Given the description of an element on the screen output the (x, y) to click on. 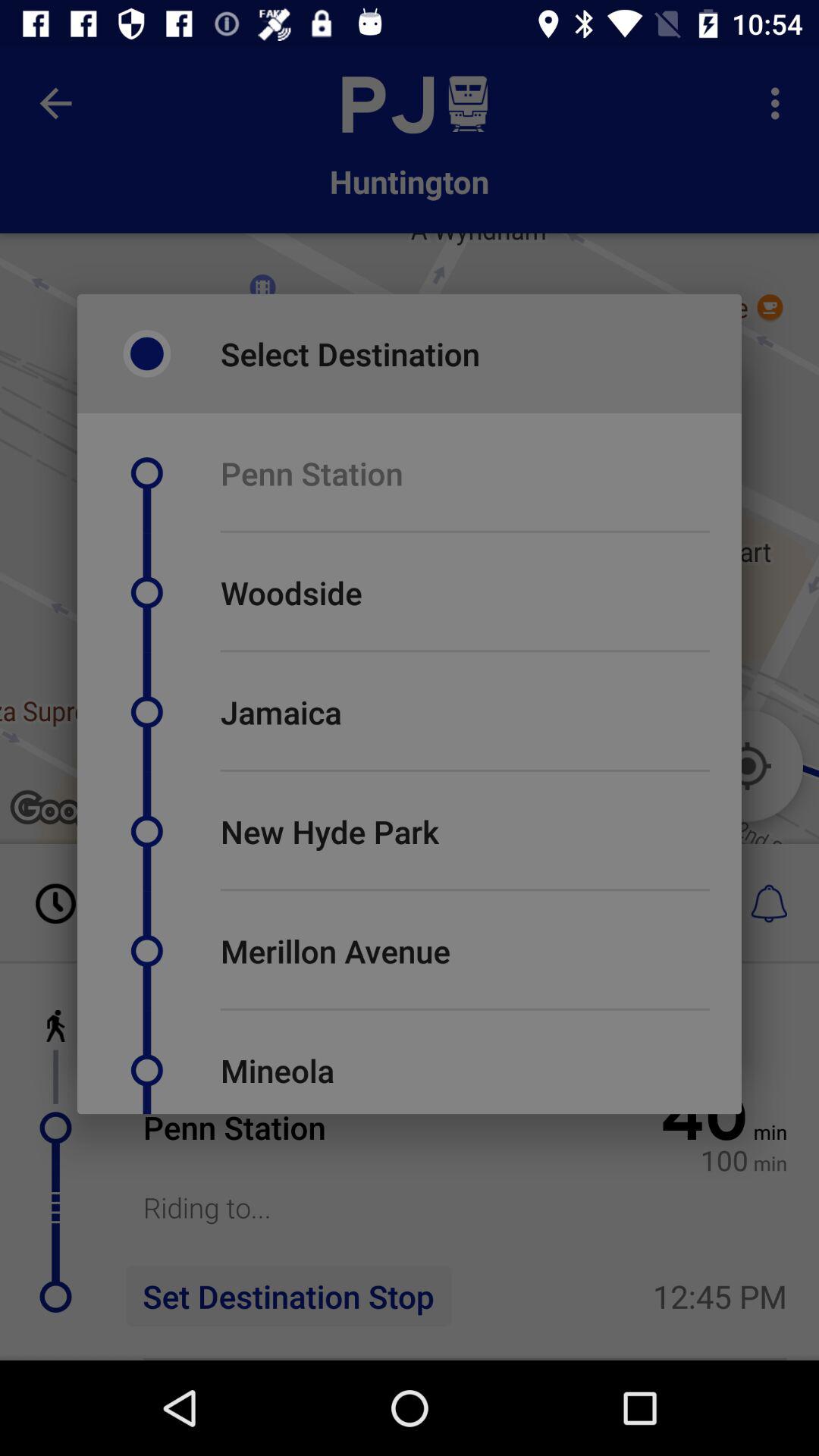
select the item above new hyde park icon (464, 770)
